Given the description of an element on the screen output the (x, y) to click on. 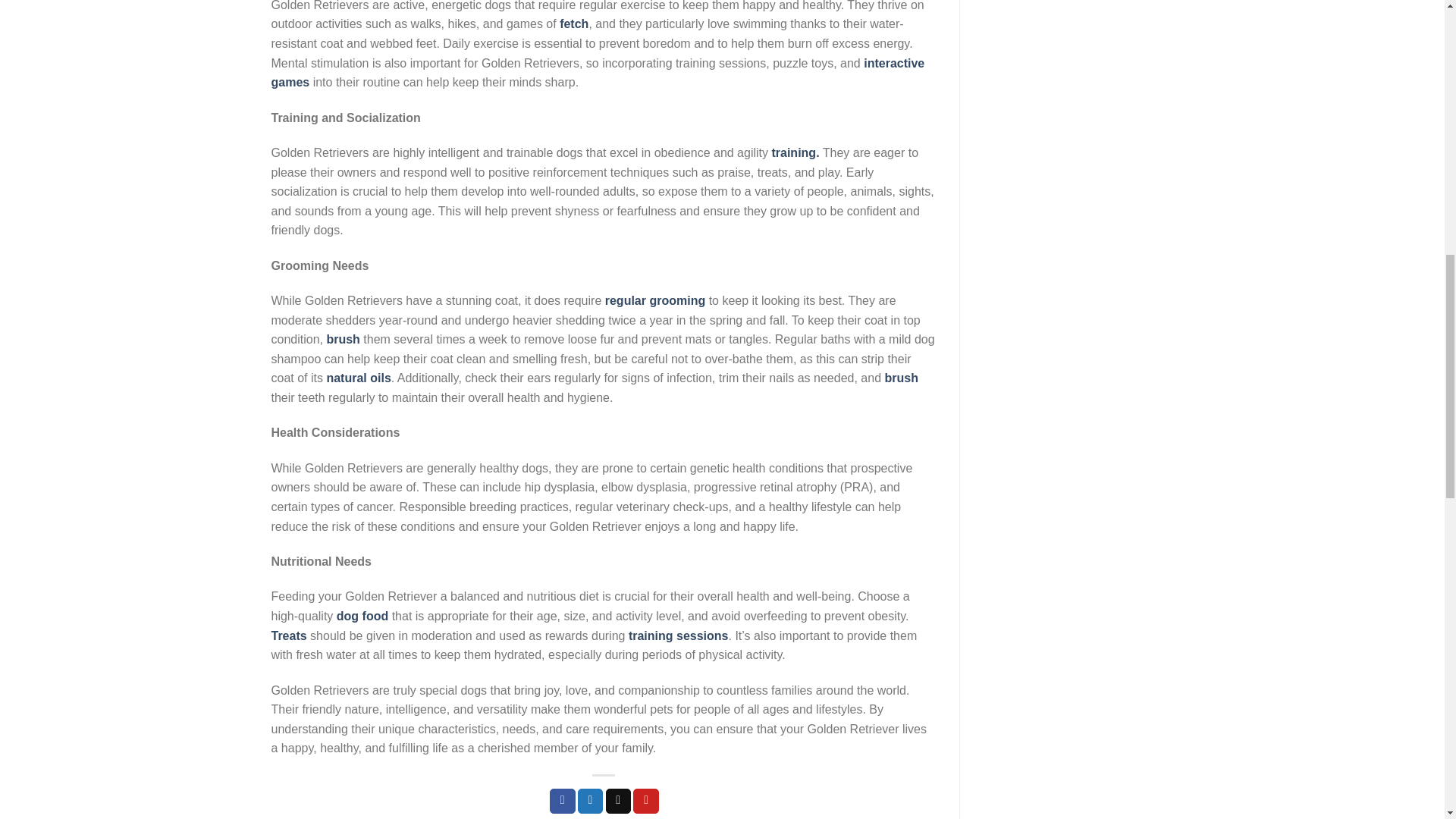
Email to a Friend (618, 801)
Share on Twitter (591, 801)
Share on Facebook (562, 801)
Pin on Pinterest (646, 801)
